Given the description of an element on the screen output the (x, y) to click on. 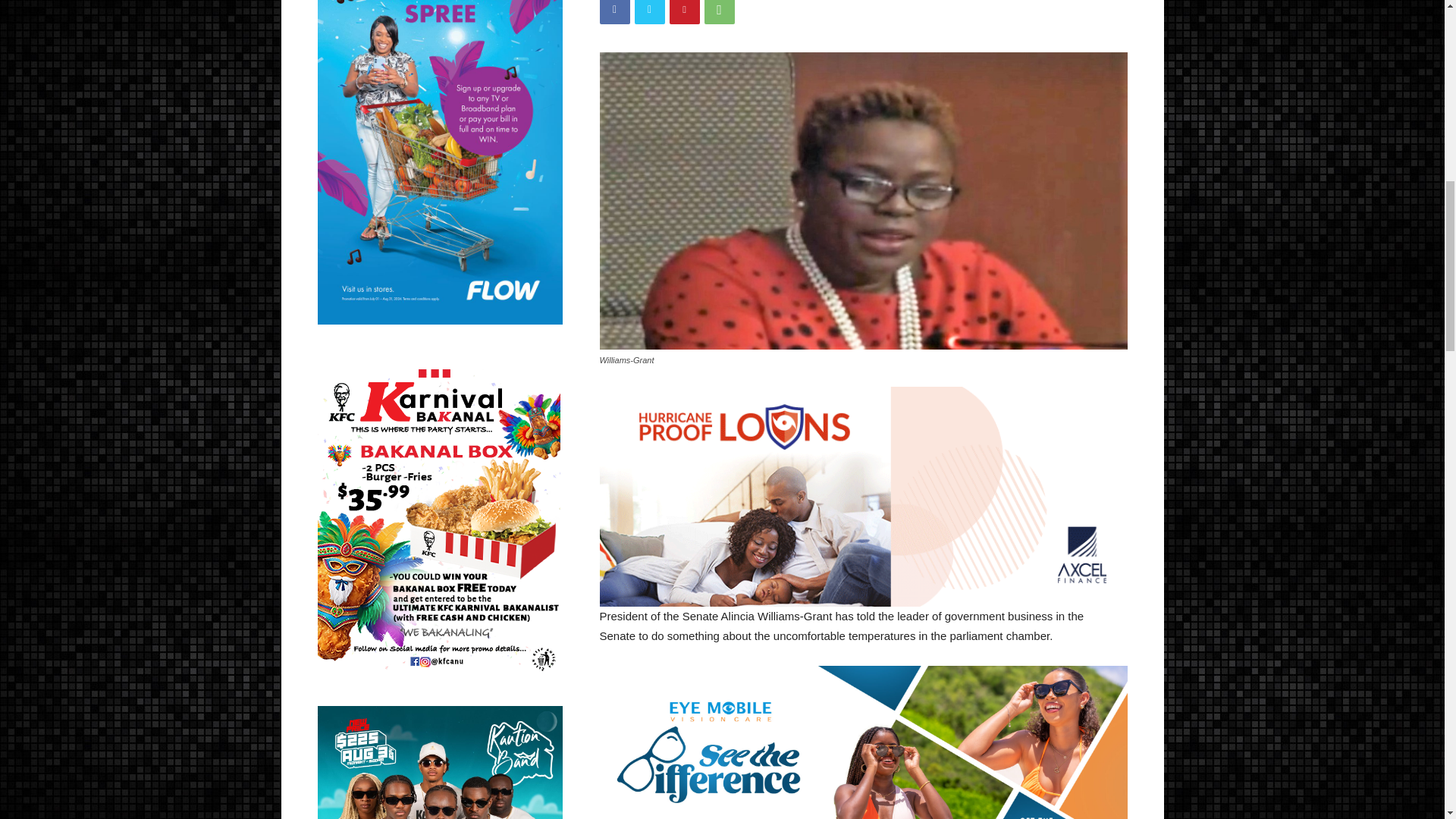
WhatsApp (718, 12)
Facebook (613, 12)
Pinterest (683, 12)
Twitter (648, 12)
